Given the description of an element on the screen output the (x, y) to click on. 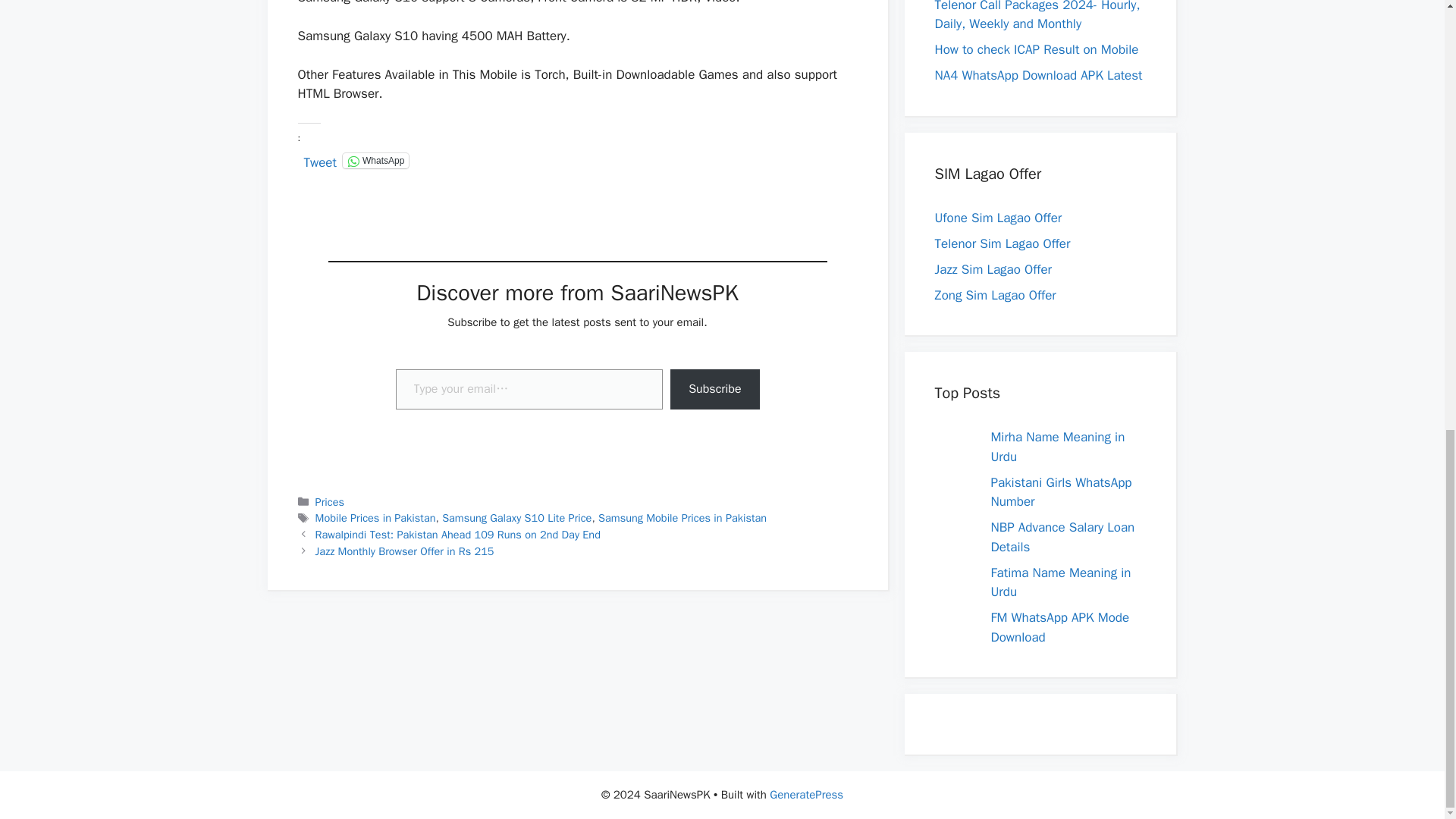
Telenor Sim Lagao Offer (1002, 243)
How to check ICAP Result on Mobile (1036, 49)
Jazz Sim Lagao Offer (992, 269)
Tweet (319, 160)
WhatsApp (375, 160)
Samsung Mobile Prices in Pakistan (682, 517)
Subscribe (713, 389)
Please fill in this field. (529, 389)
Prices (329, 501)
